Given the description of an element on the screen output the (x, y) to click on. 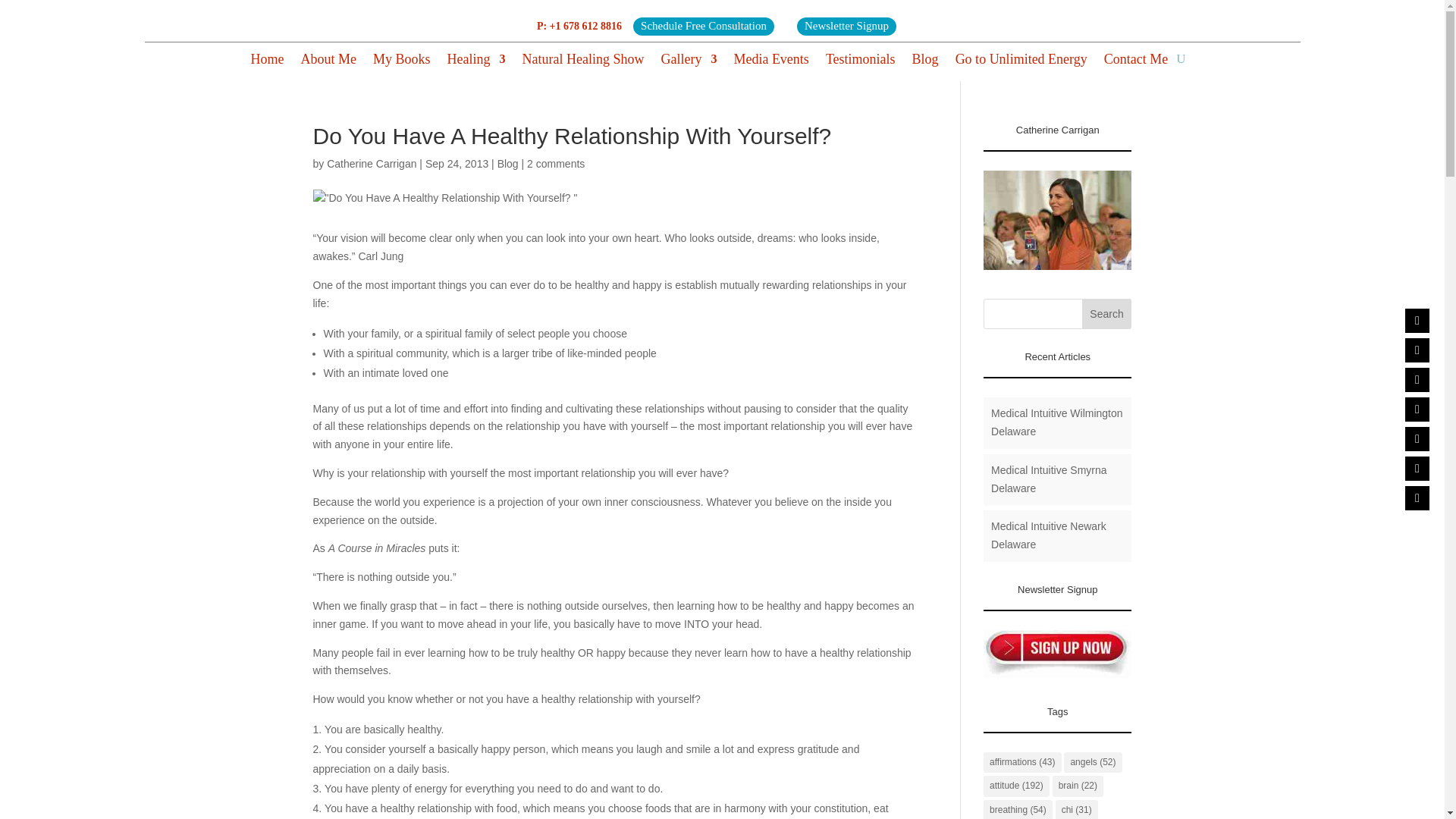
About Me (327, 62)
Pinterest (1417, 438)
Schedule Free Consultation (703, 25)
2 comments (556, 163)
Facebook (1417, 320)
Newsletter Signup (846, 25)
Go to Unlimited Energy (1021, 62)
Search (1106, 313)
Blog (925, 62)
Medical Intuitive Smyrna Delaware (1048, 479)
Search (1106, 313)
Youtube (1417, 468)
My Books (401, 62)
Media Events (770, 62)
Contact Me (1135, 62)
